Given the description of an element on the screen output the (x, y) to click on. 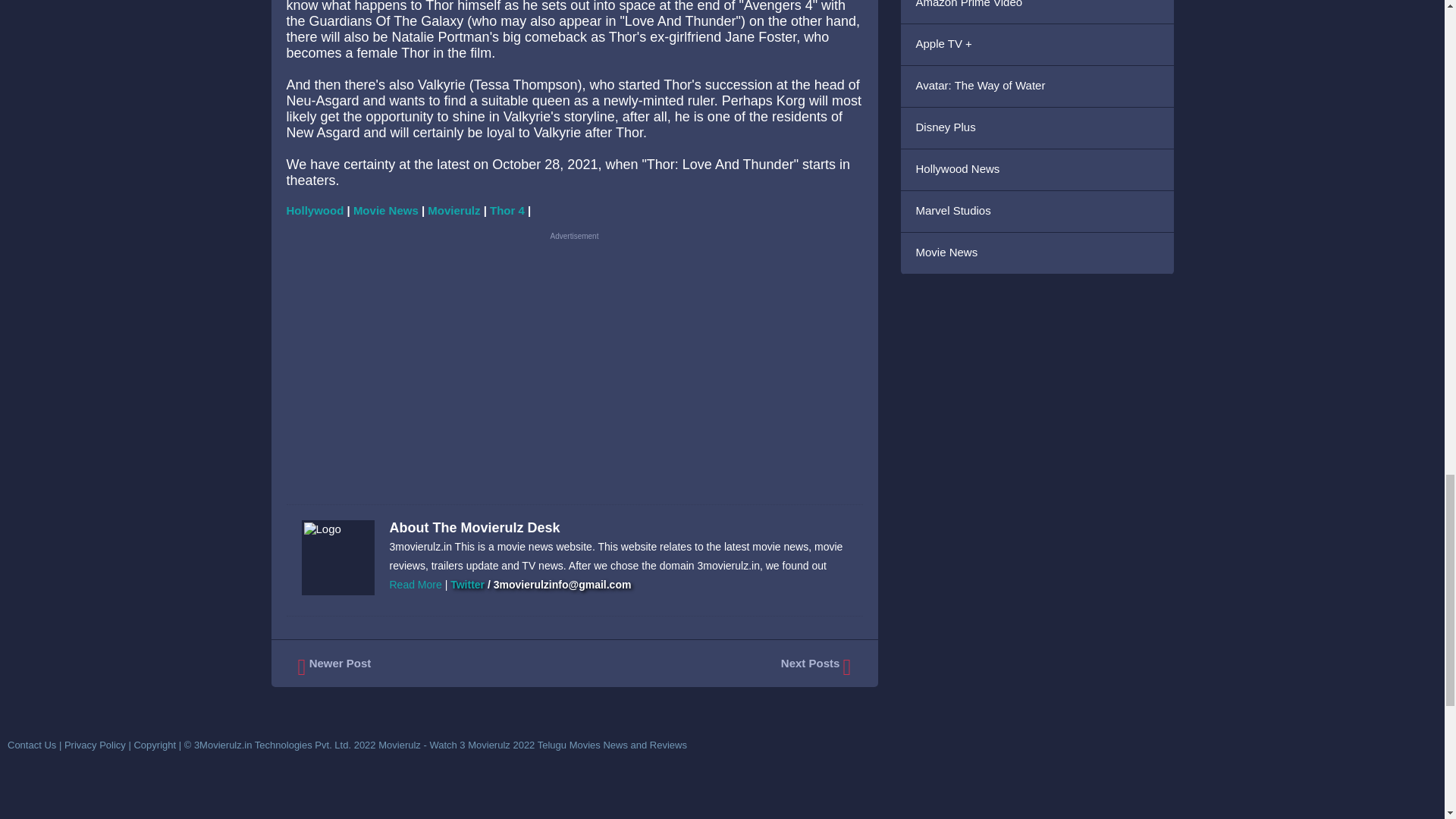
Movierulz (454, 210)
Movie News (386, 210)
Read More (416, 584)
Thor 4 (506, 210)
Twitter (466, 584)
Amazon Prime Video (1037, 11)
Hollywood (314, 210)
